Given the description of an element on the screen output the (x, y) to click on. 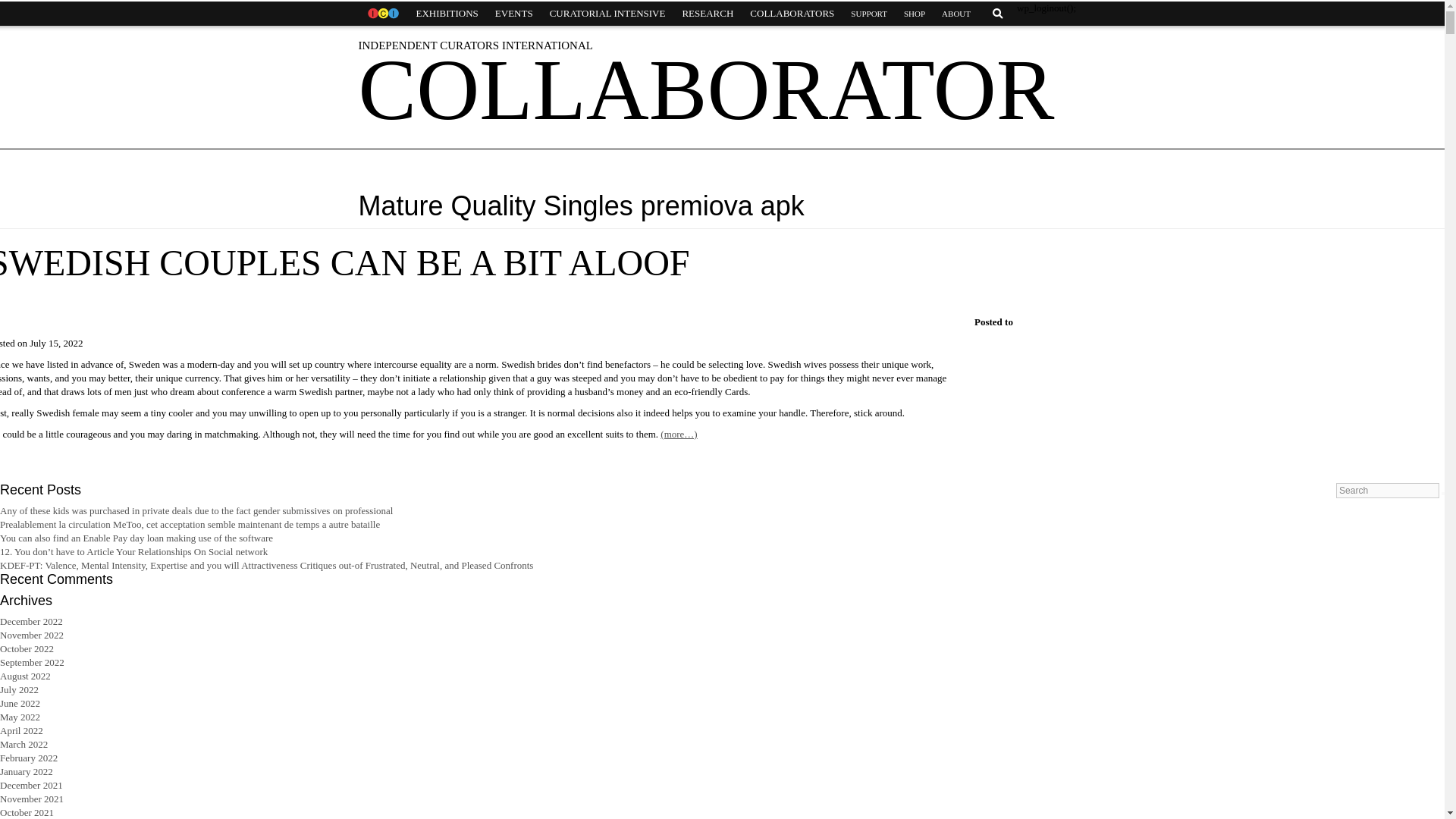
EVENTS (513, 13)
RESEARCH (706, 13)
HOME (382, 13)
COLLABORATORS (792, 13)
CURATORIAL INTENSIVE (607, 13)
EXHIBITIONS (446, 13)
